Given the description of an element on the screen output the (x, y) to click on. 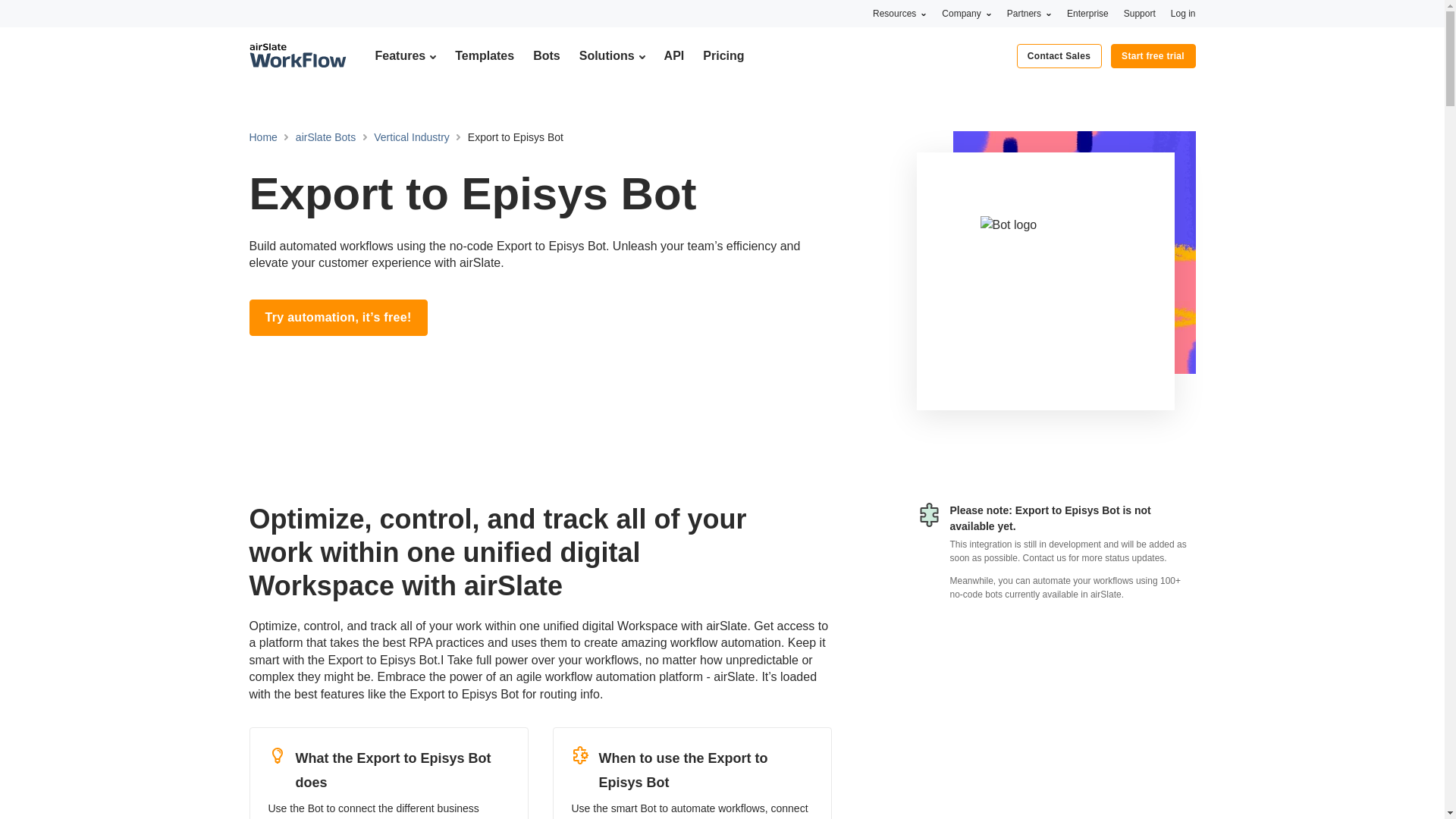
Enterprise (1087, 13)
Log in (1182, 13)
Resources (899, 13)
Support (1140, 13)
Partners (1029, 13)
Bots (546, 55)
Company (966, 13)
Templates (483, 55)
